Given the description of an element on the screen output the (x, y) to click on. 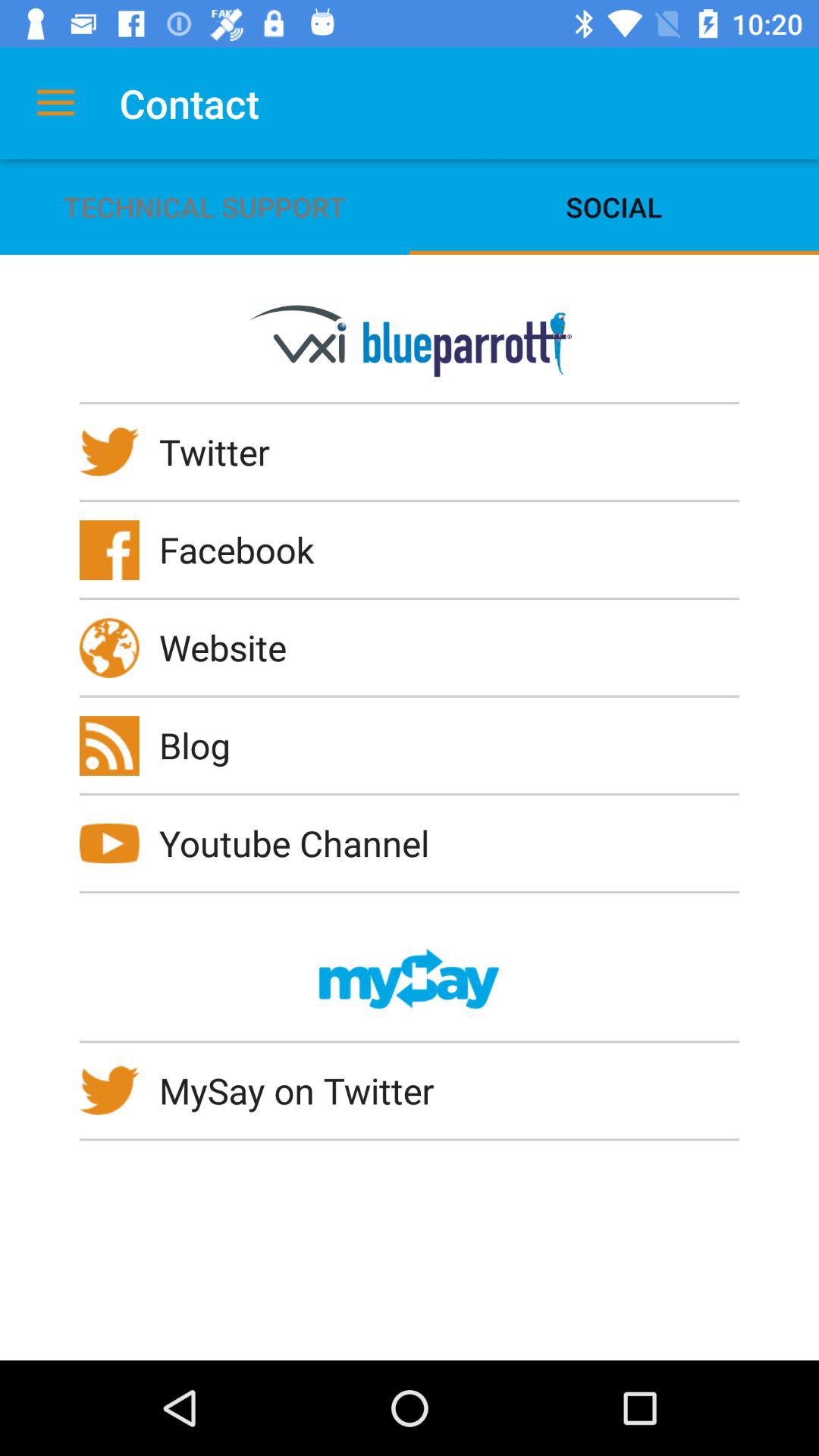
swipe until website item (232, 647)
